Given the description of an element on the screen output the (x, y) to click on. 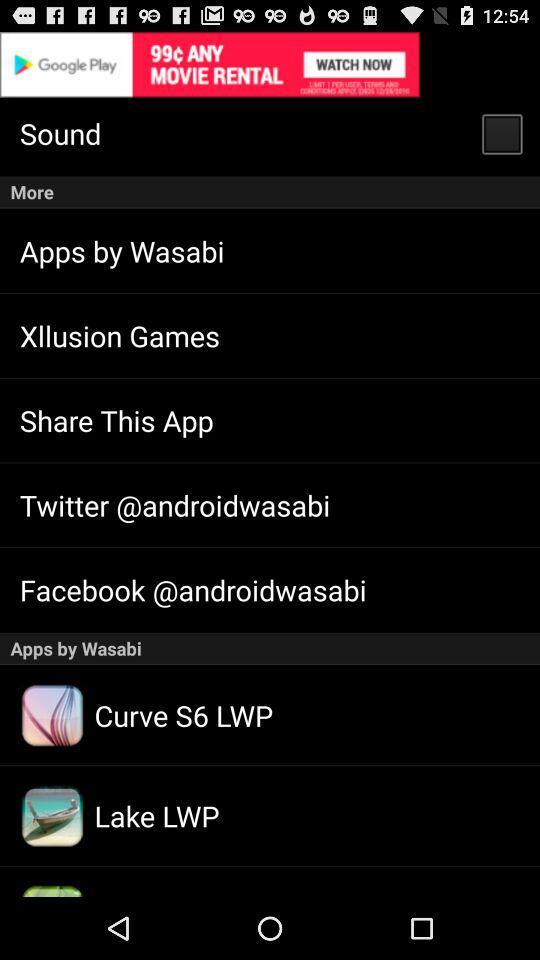
advertisement banner (270, 64)
